Given the description of an element on the screen output the (x, y) to click on. 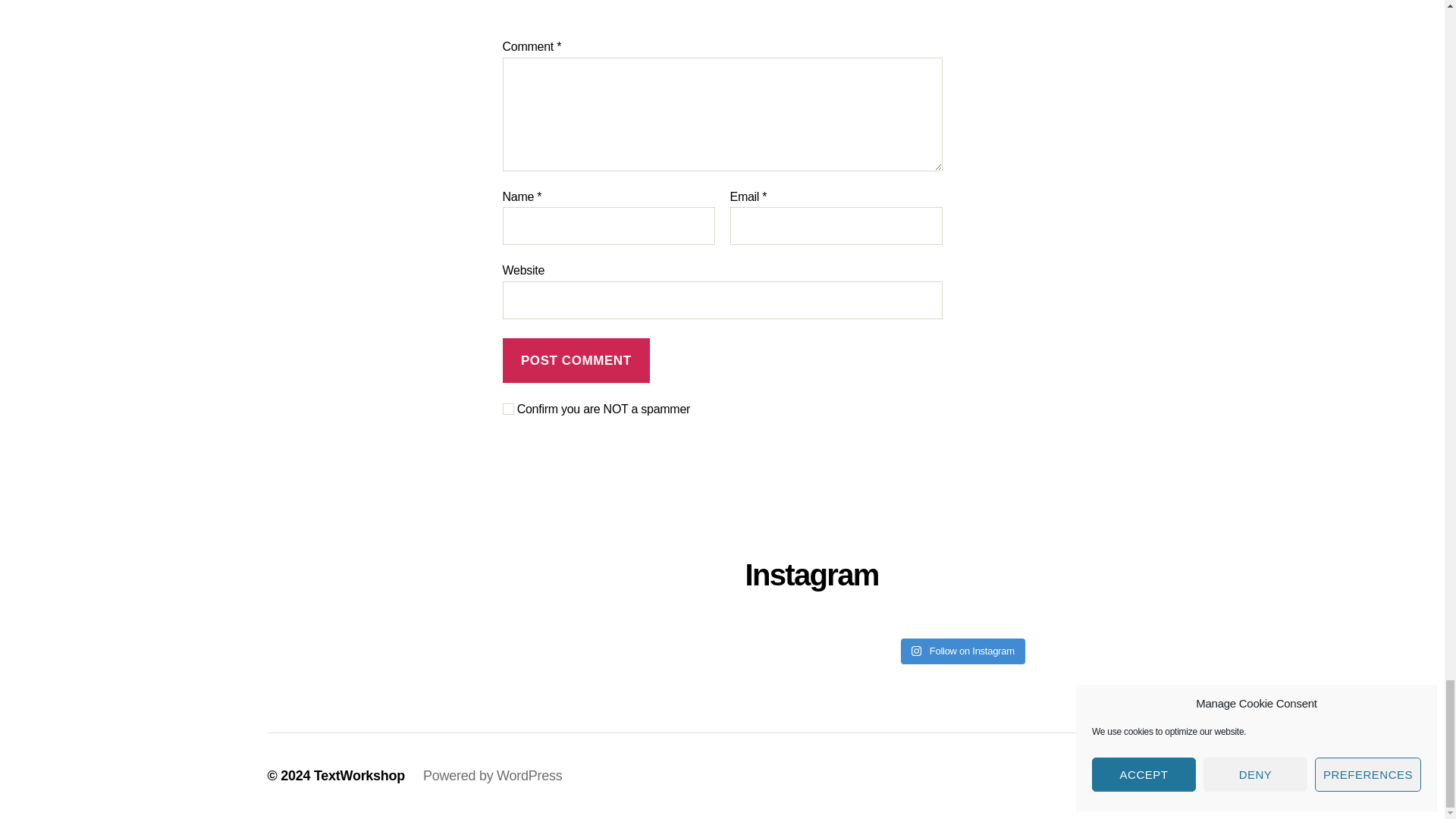
Post Comment (575, 360)
Post Comment (575, 360)
TextWorkshop (359, 775)
on (507, 408)
Follow on Instagram (963, 651)
Powered by WordPress (492, 775)
